Given the description of an element on the screen output the (x, y) to click on. 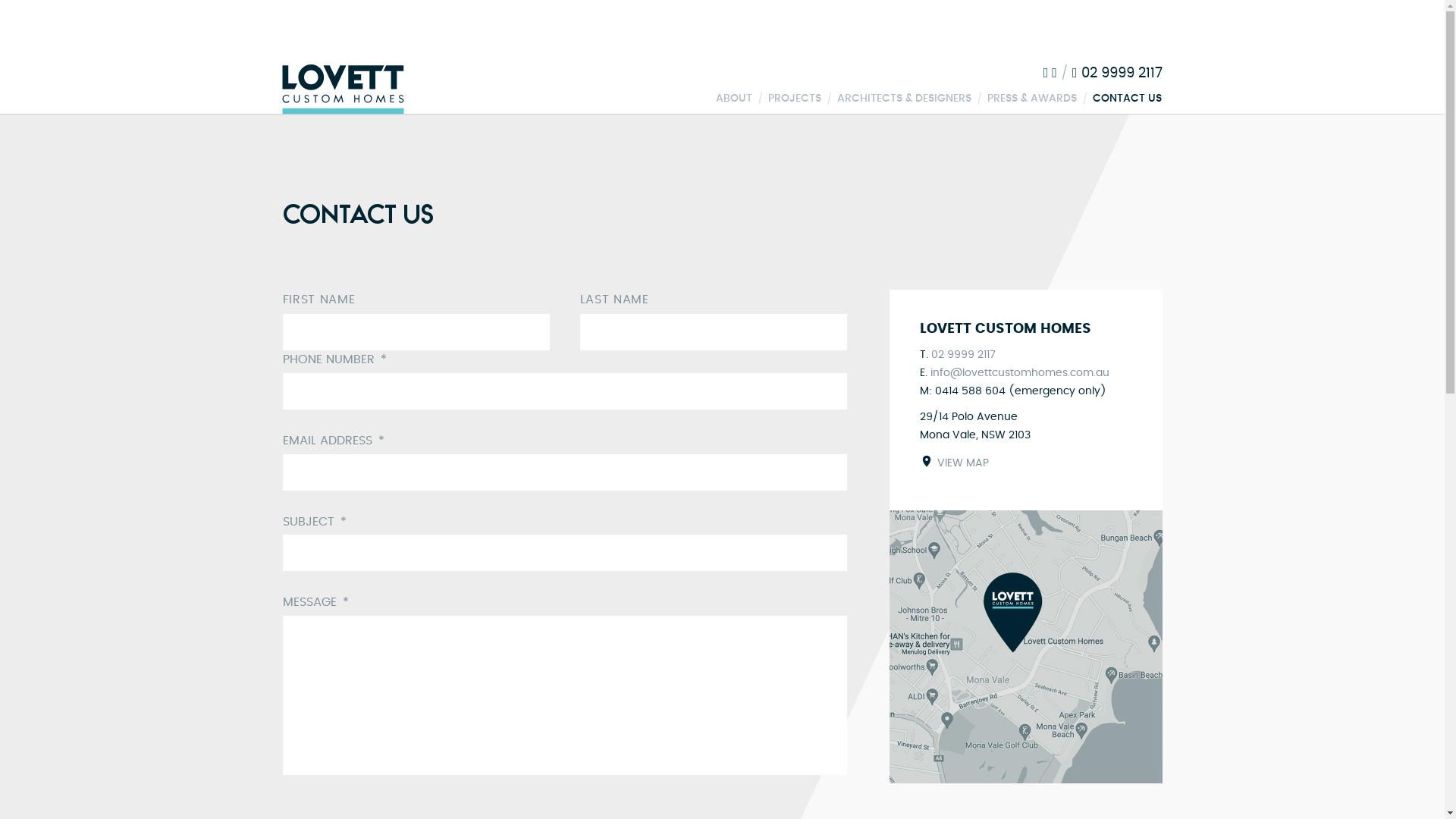
info@lovettcustomhomes.com.au Element type: text (1018, 372)
PRESS & AWARDS Element type: text (1031, 97)
Lovett Custom Homes Element type: hover (344, 89)
PROJECTS Element type: text (793, 97)
CONTACT US Element type: text (1126, 97)
VIEW MAP Element type: text (953, 463)
ABOUT Element type: text (733, 97)
ARCHITECTS & DESIGNERS Element type: text (904, 97)
02 9999 2117 Element type: text (963, 354)
